Given the description of an element on the screen output the (x, y) to click on. 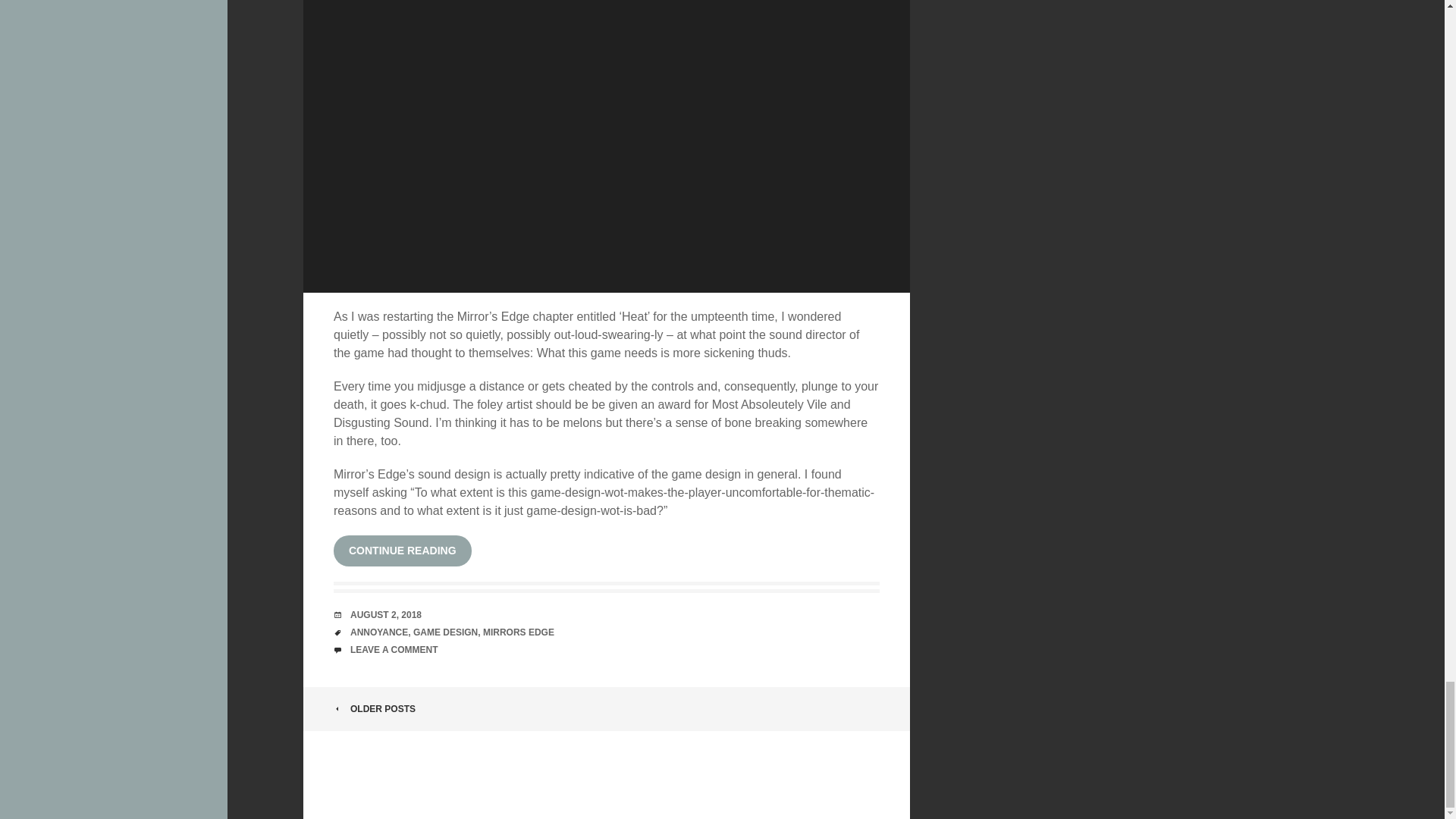
12:02 pm (386, 614)
